Given the description of an element on the screen output the (x, y) to click on. 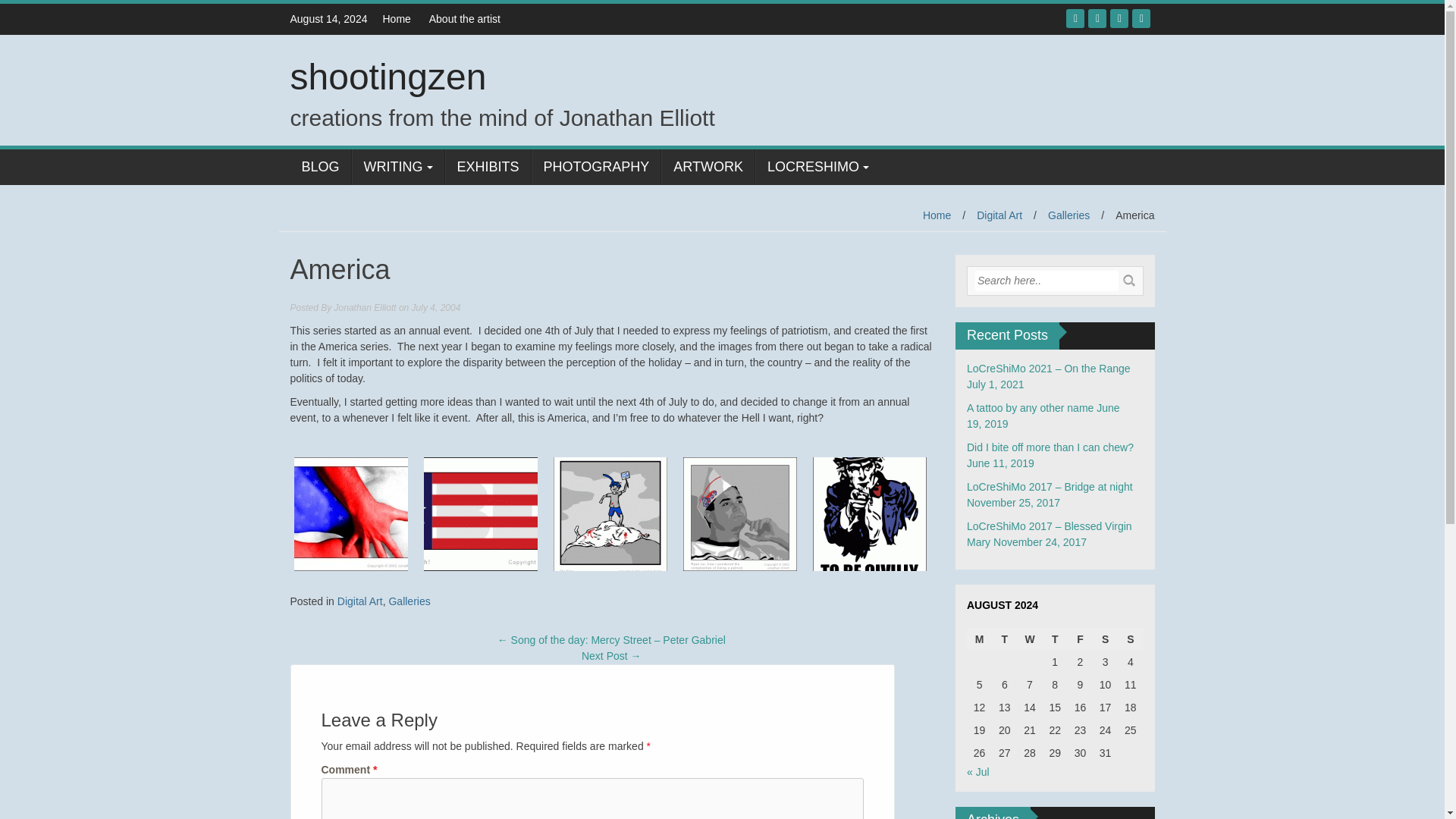
Series: America - Glory, Glory Hallelujah! (480, 513)
PHOTOGRAPHY (596, 167)
WRITING (398, 167)
Search here.. (1046, 281)
Home (936, 215)
BLOG (319, 167)
Series: America - Uncle Sam Henry (869, 513)
Email (1141, 18)
Facebook (1074, 18)
Series: America - King (609, 513)
